Given the description of an element on the screen output the (x, y) to click on. 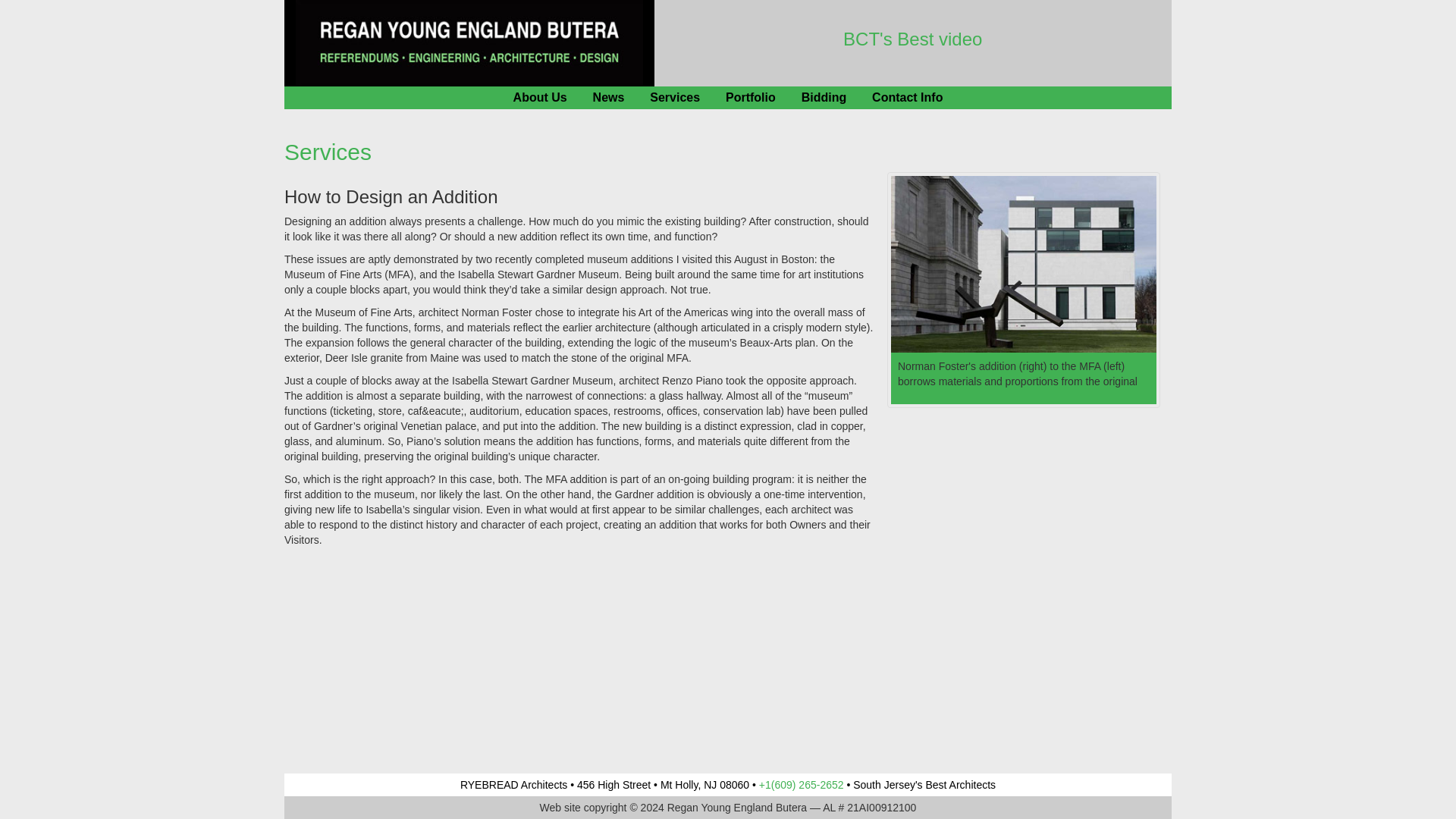
News (608, 97)
Services (675, 97)
BCT's Best video (912, 41)
Contact Info (906, 97)
About Us (540, 97)
Bidding (824, 97)
Services (327, 151)
Portfolio (750, 97)
